Given the description of an element on the screen output the (x, y) to click on. 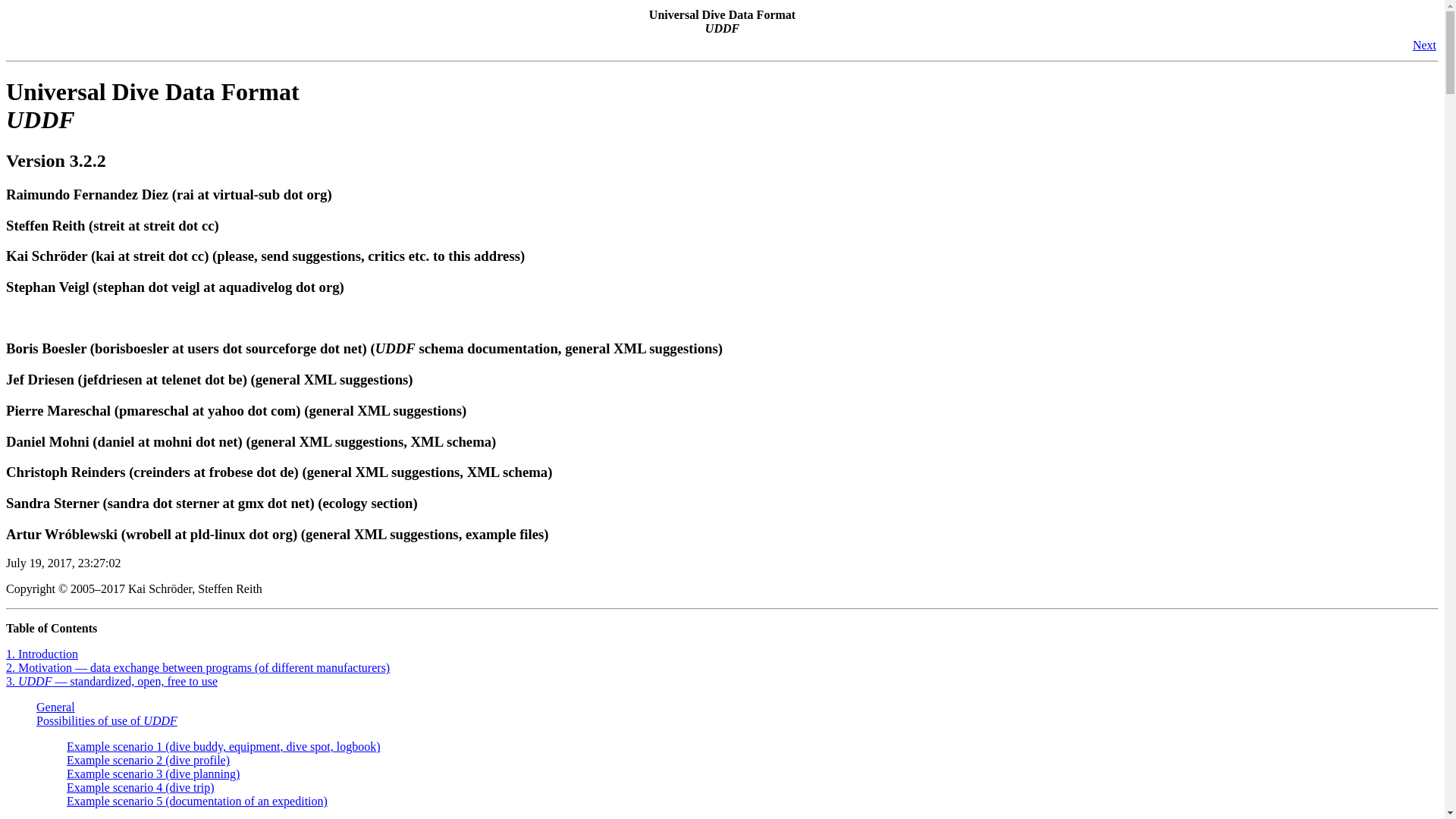
General Element type: text (55, 706)
Example scenario 3 (dive planning) Element type: text (152, 773)
1. Introduction Element type: text (42, 653)
Example scenario 4 (dive trip) Element type: text (140, 787)
Next Element type: text (1424, 44)
Possibilities of use of UDDF Element type: text (106, 720)
Example scenario 5 (documentation of an expedition) Element type: text (196, 800)
Example scenario 2 (dive profile) Element type: text (147, 759)
